Given the description of an element on the screen output the (x, y) to click on. 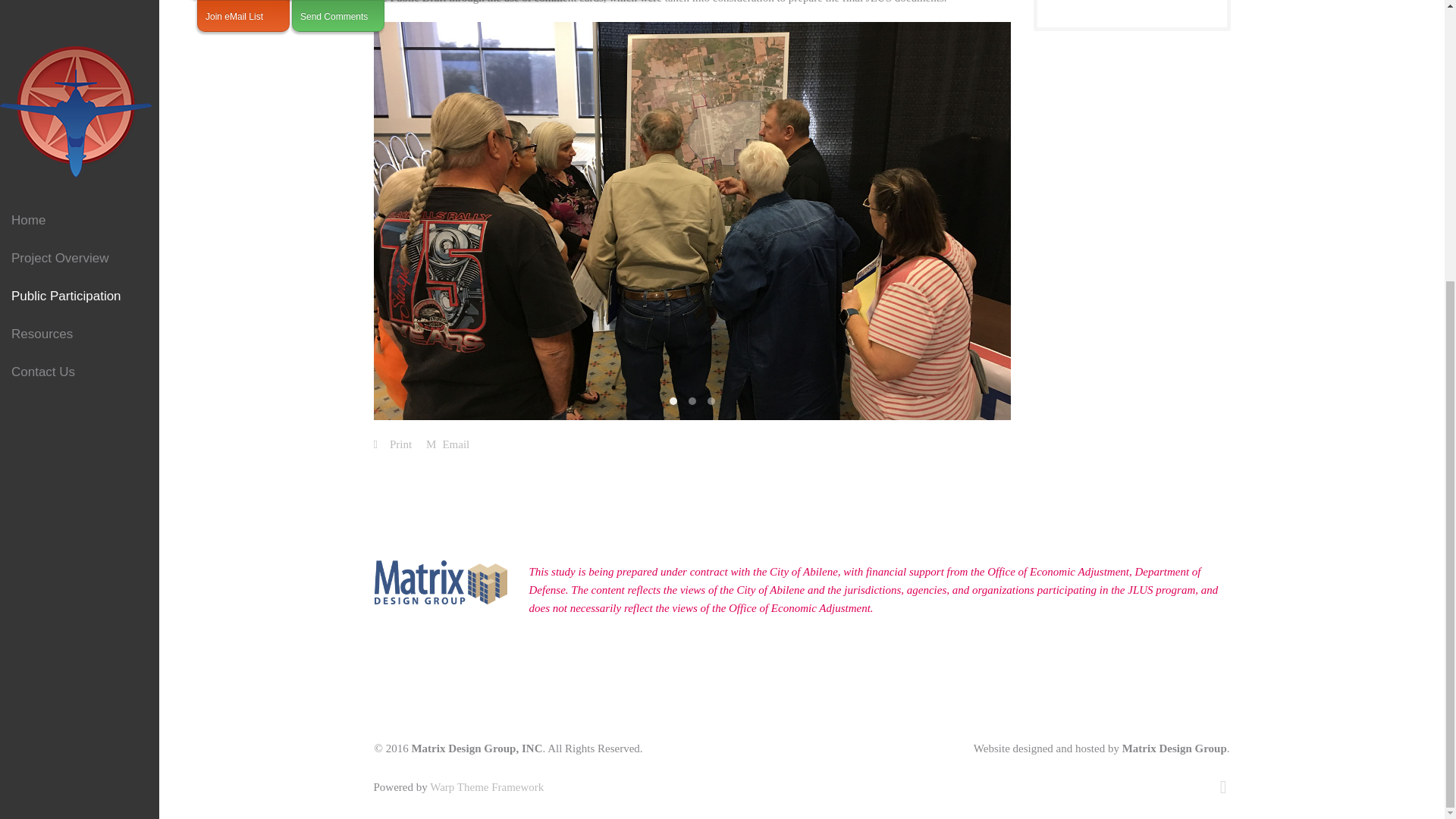
Photo (691, 400)
Email this link to a friend (447, 444)
Photo (672, 400)
Print (392, 444)
Photo (710, 400)
Email (447, 444)
